Given the description of an element on the screen output the (x, y) to click on. 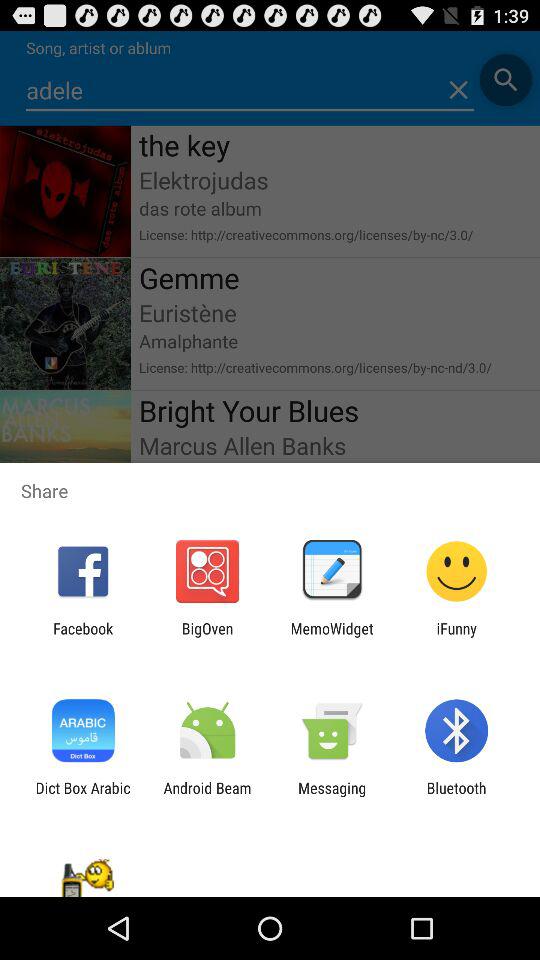
choose app next to messaging app (456, 796)
